Given the description of an element on the screen output the (x, y) to click on. 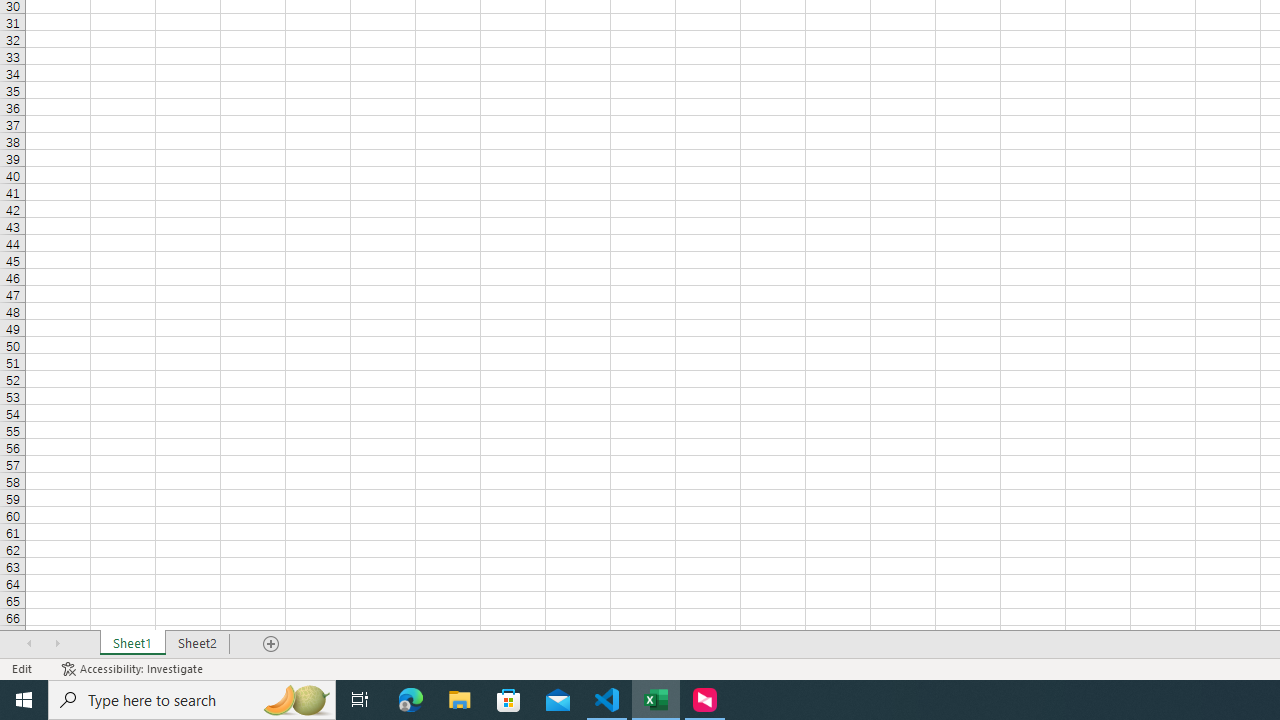
Scroll Left (29, 644)
Sheet1 (132, 644)
Scroll Right (57, 644)
Accessibility Checker Accessibility: Investigate (134, 668)
Add Sheet (271, 644)
Sheet2 (197, 644)
